Given the description of an element on the screen output the (x, y) to click on. 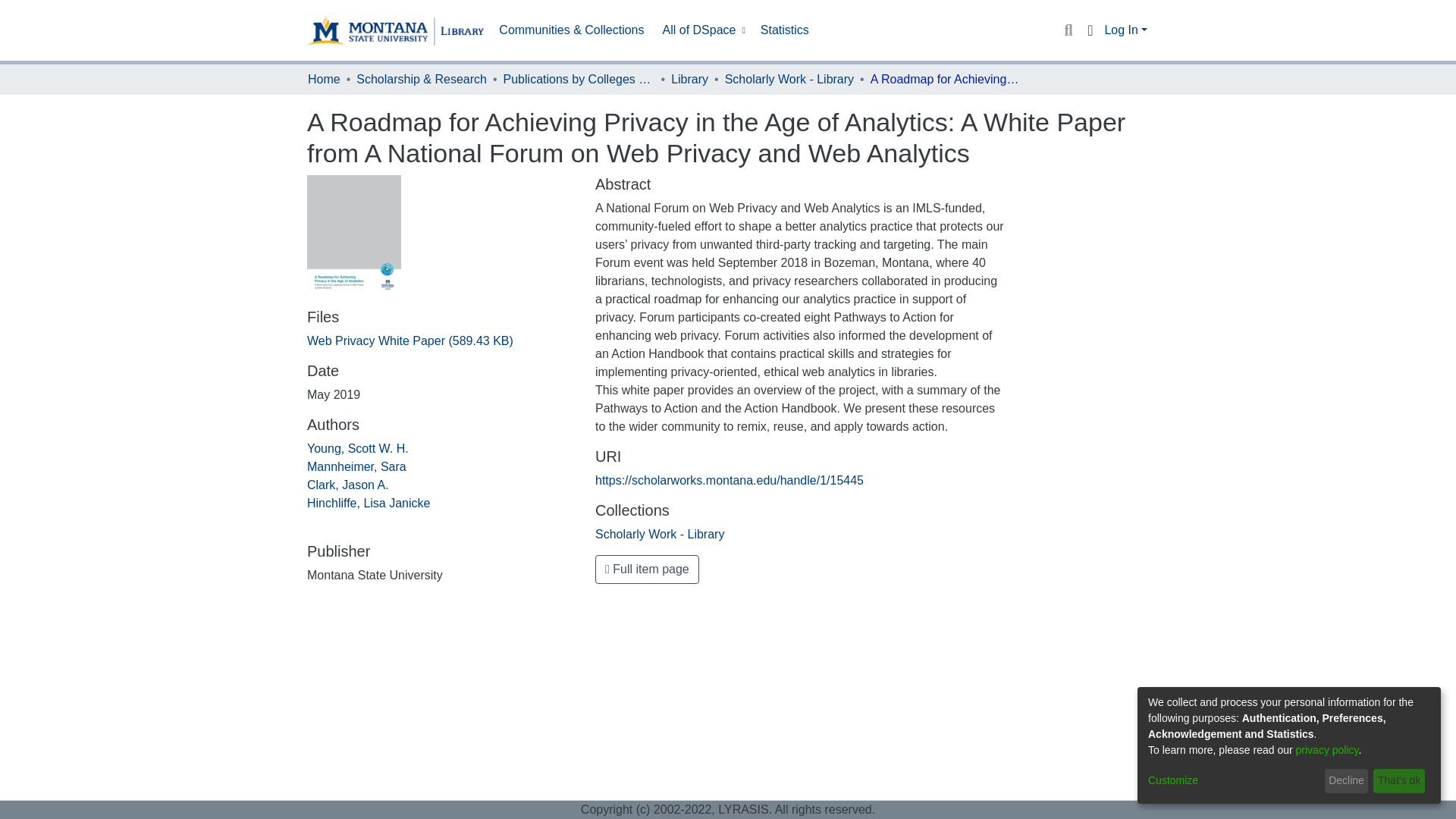
All of DSpace (702, 30)
Customize (1233, 780)
Search (1067, 30)
privacy policy (1326, 749)
Scholarly Work - Library (789, 79)
Mannheimer, Sara (356, 466)
Library (689, 79)
Full item page (646, 569)
Home (323, 79)
That's ok (1399, 781)
Statistics (784, 30)
Log In (1125, 29)
Hinchliffe, Lisa Janicke (368, 502)
Clark, Jason A. (347, 484)
Decline (1346, 781)
